Given the description of an element on the screen output the (x, y) to click on. 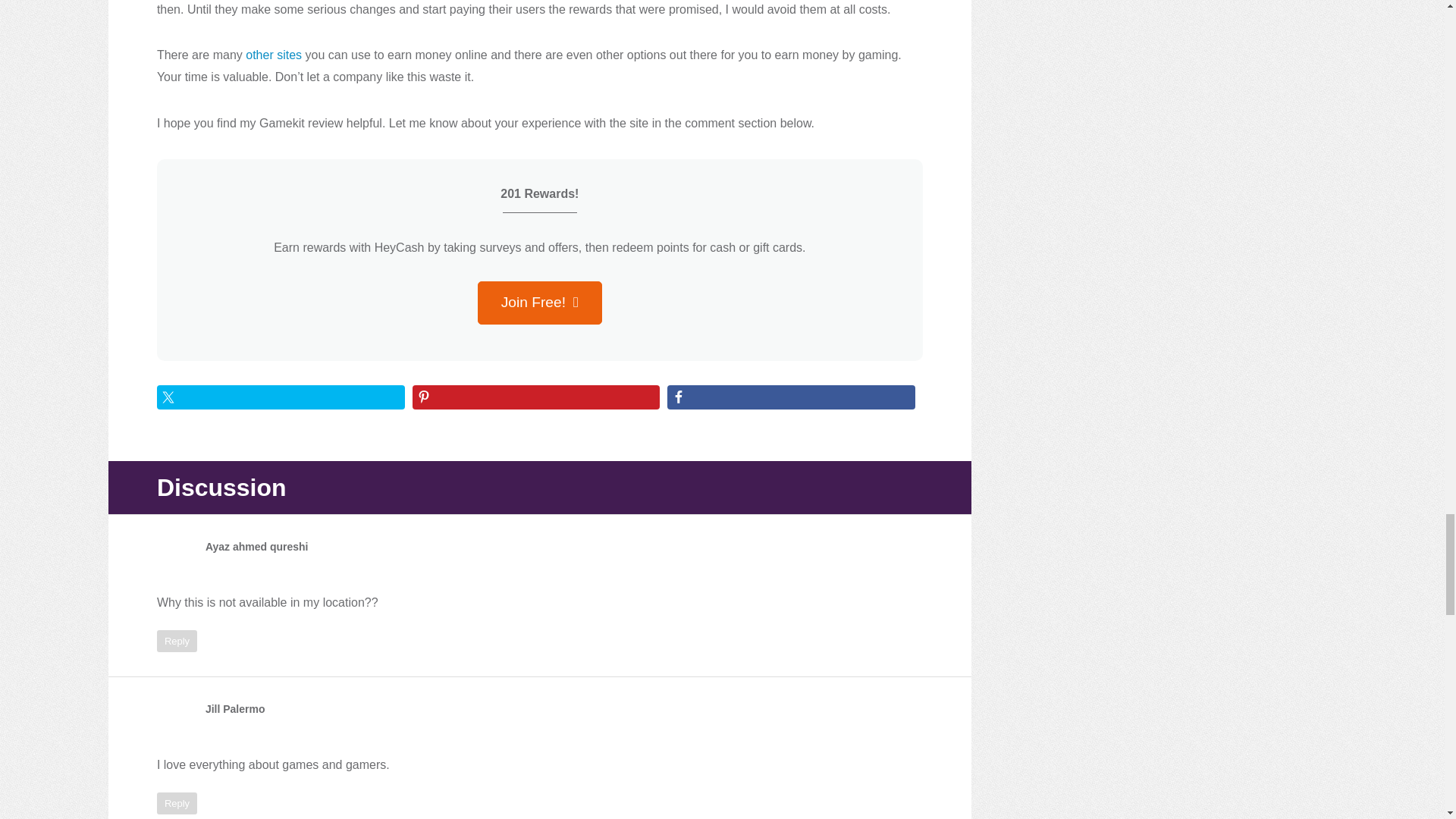
Join Free! (539, 302)
other sites (273, 54)
Share on Twitter (280, 396)
Share on Facebook (790, 396)
Share on Pinterest (536, 396)
